Given the description of an element on the screen output the (x, y) to click on. 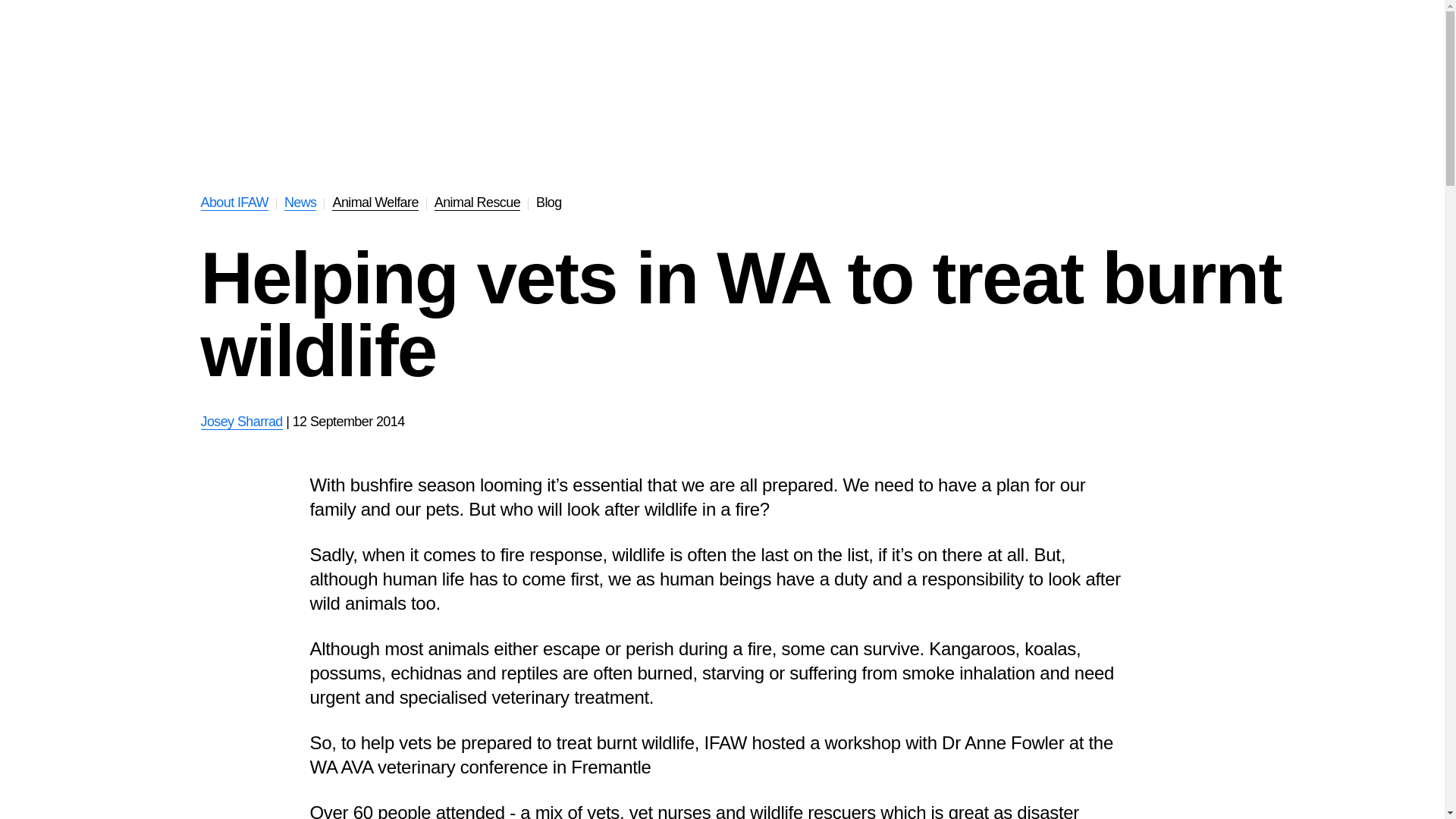
Animal Welfare (374, 202)
News (300, 202)
Josey Sharrad (241, 421)
Animal Rescue (476, 202)
About IFAW (233, 202)
